Given the description of an element on the screen output the (x, y) to click on. 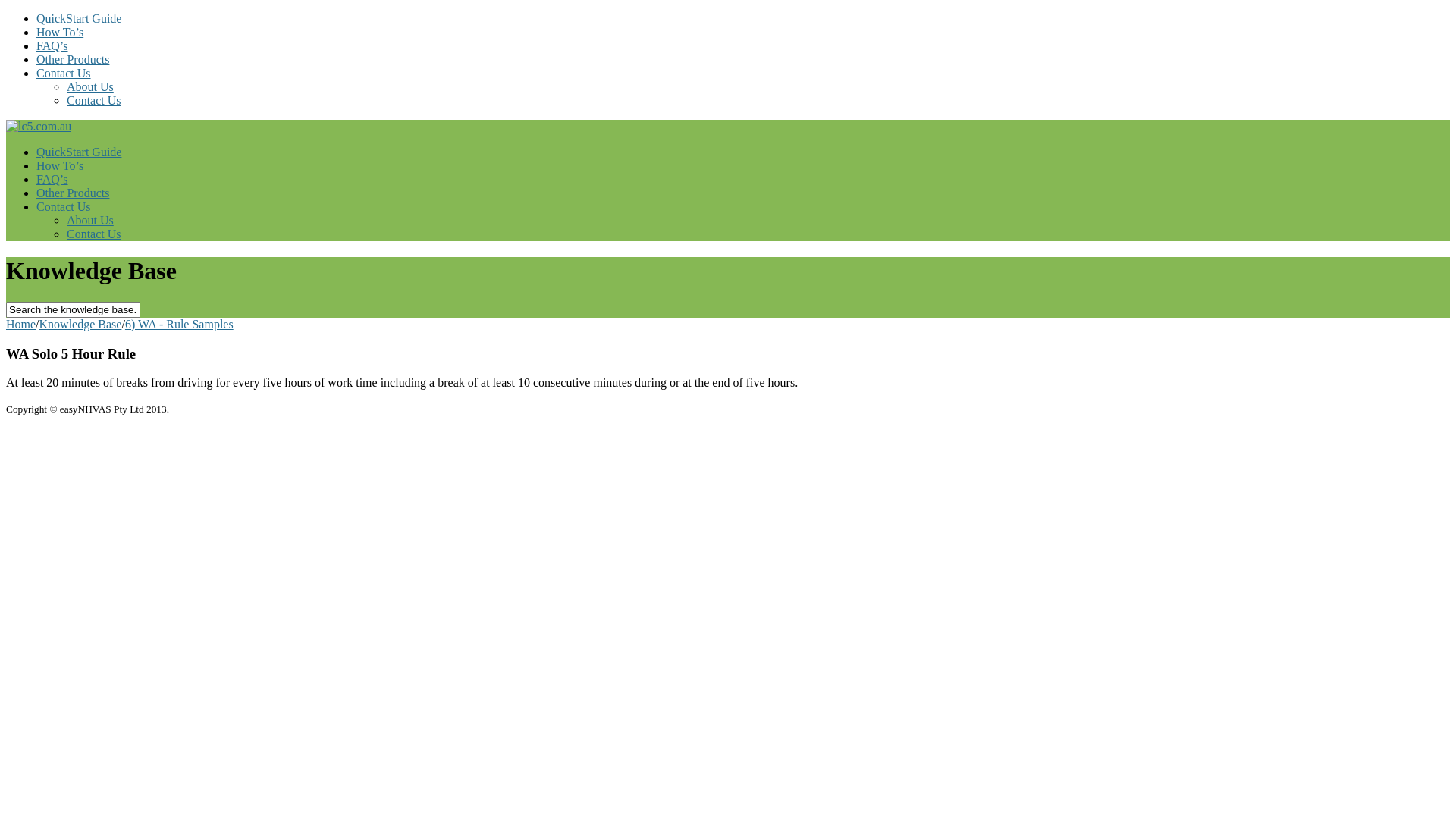
About Us Element type: text (89, 219)
Contact Us Element type: text (63, 72)
Contact Us Element type: text (93, 100)
lc5.com.au Element type: hover (38, 125)
Other Products Element type: text (72, 59)
6) WA - Rule Samples Element type: text (179, 323)
Other Products Element type: text (72, 192)
QuickStart Guide Element type: text (78, 18)
Contact Us Element type: text (63, 206)
QuickStart Guide Element type: text (78, 151)
Knowledge Base Element type: text (80, 323)
Contact Us Element type: text (93, 233)
About Us Element type: text (89, 86)
Home Element type: text (20, 323)
